Given the description of an element on the screen output the (x, y) to click on. 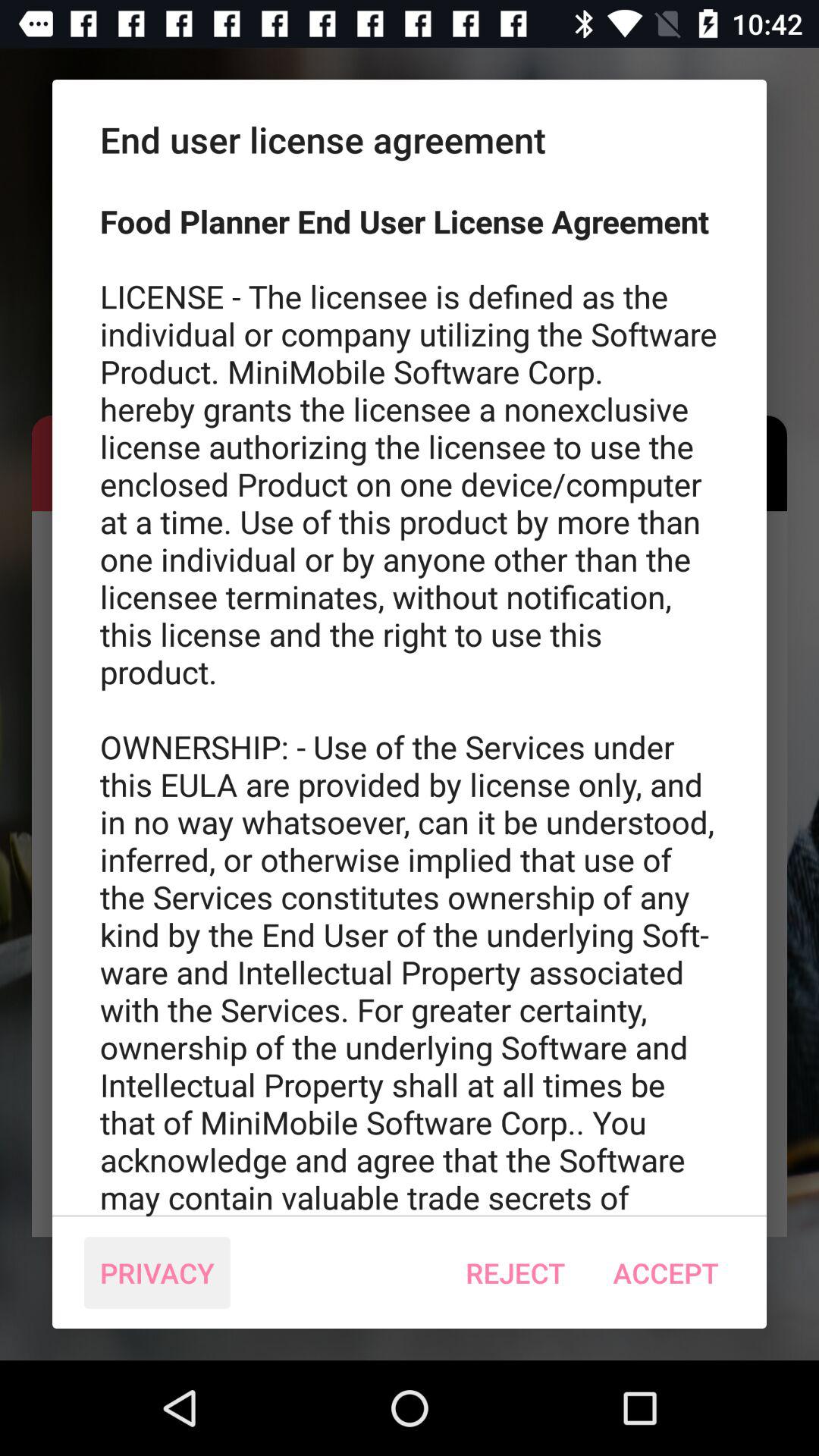
choose item next to reject (157, 1272)
